Given the description of an element on the screen output the (x, y) to click on. 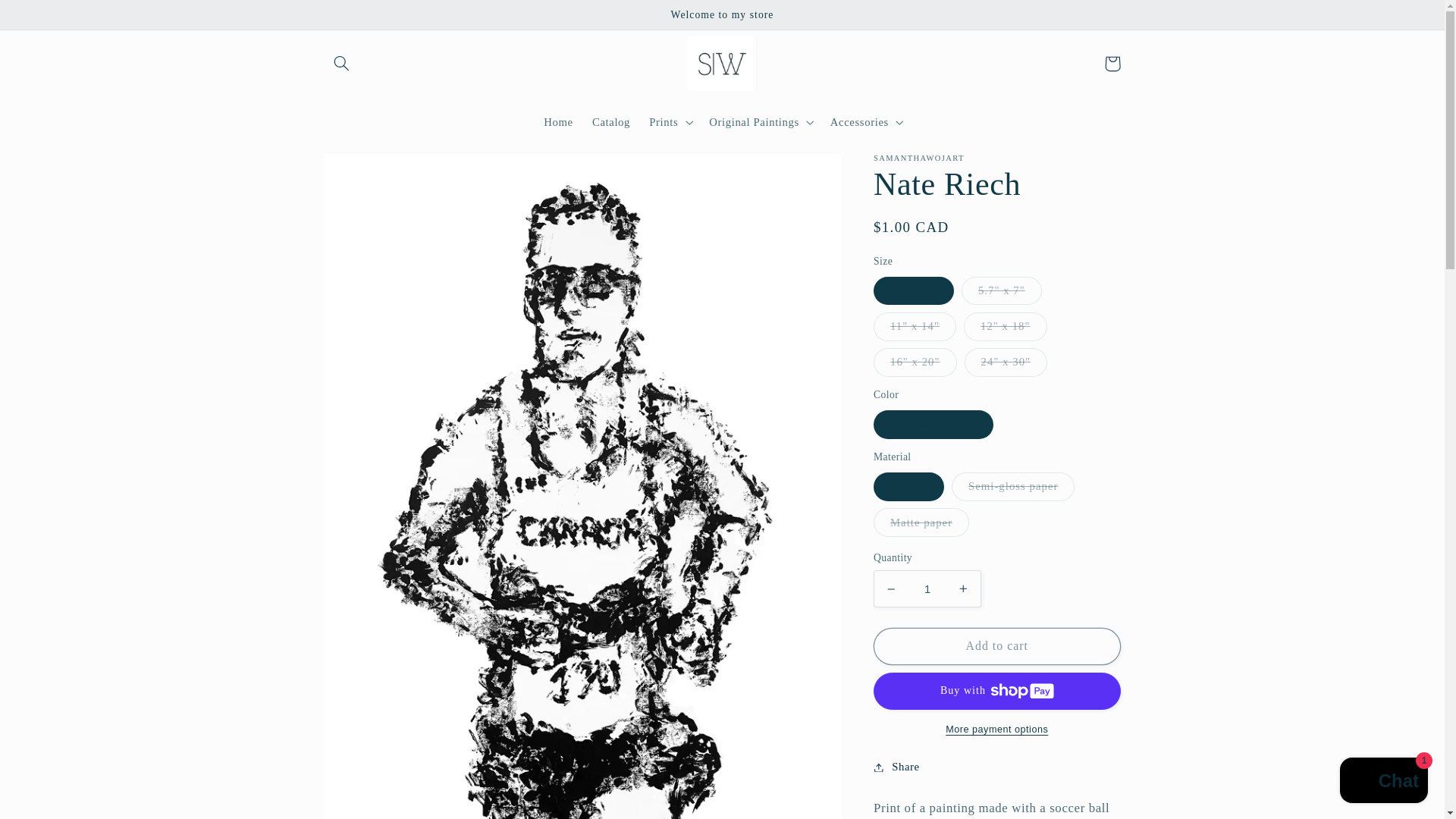
1 (927, 588)
Skip to content (48, 18)
Home (558, 121)
Catalog (610, 121)
Shopify online store chat (1383, 781)
